Given the description of an element on the screen output the (x, y) to click on. 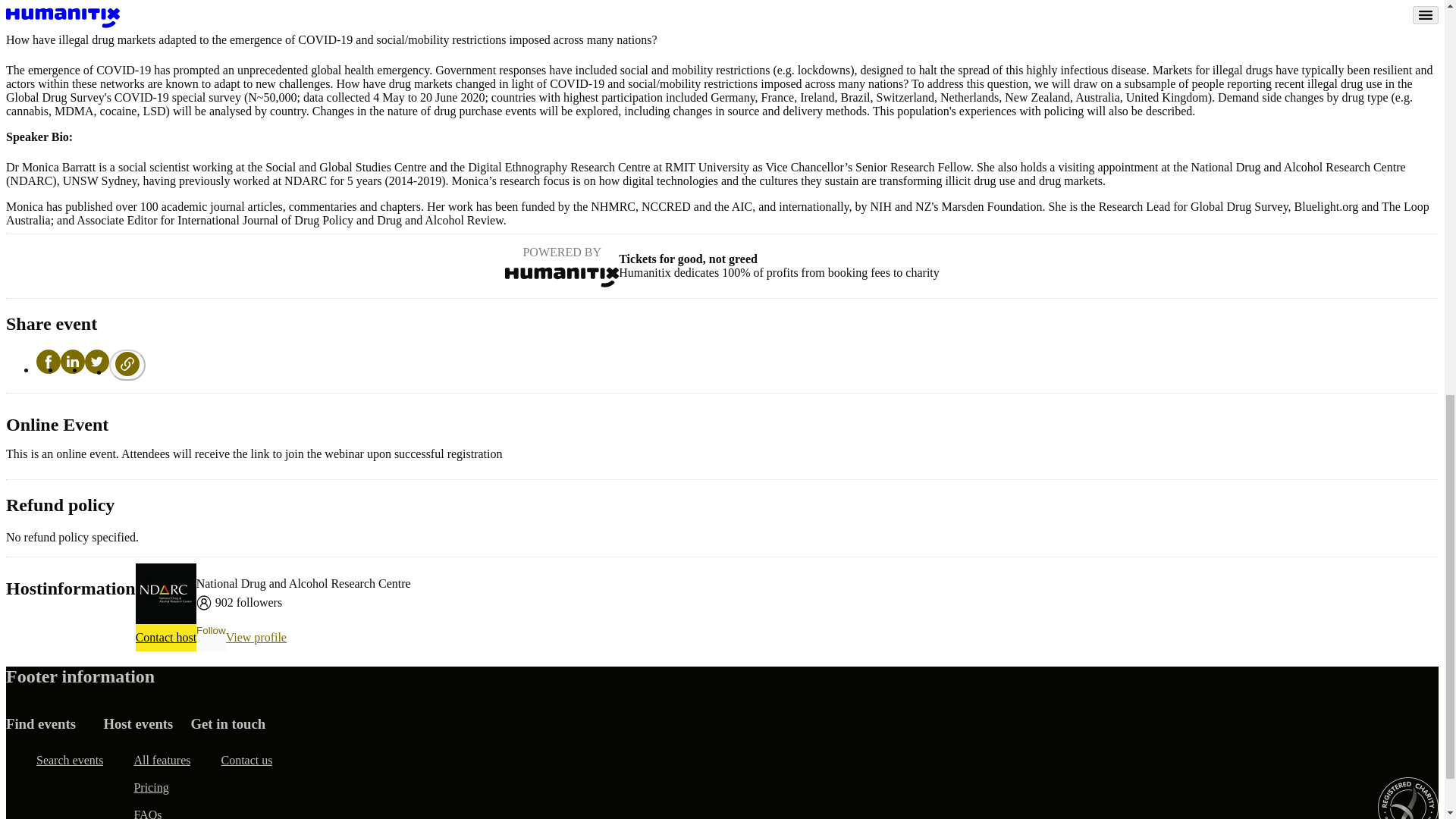
All features (161, 759)
View profile (255, 637)
Pricing (150, 787)
Follow (210, 637)
Contact host (165, 637)
FAQs (147, 810)
Contact us (246, 759)
Search events (69, 759)
